Given the description of an element on the screen output the (x, y) to click on. 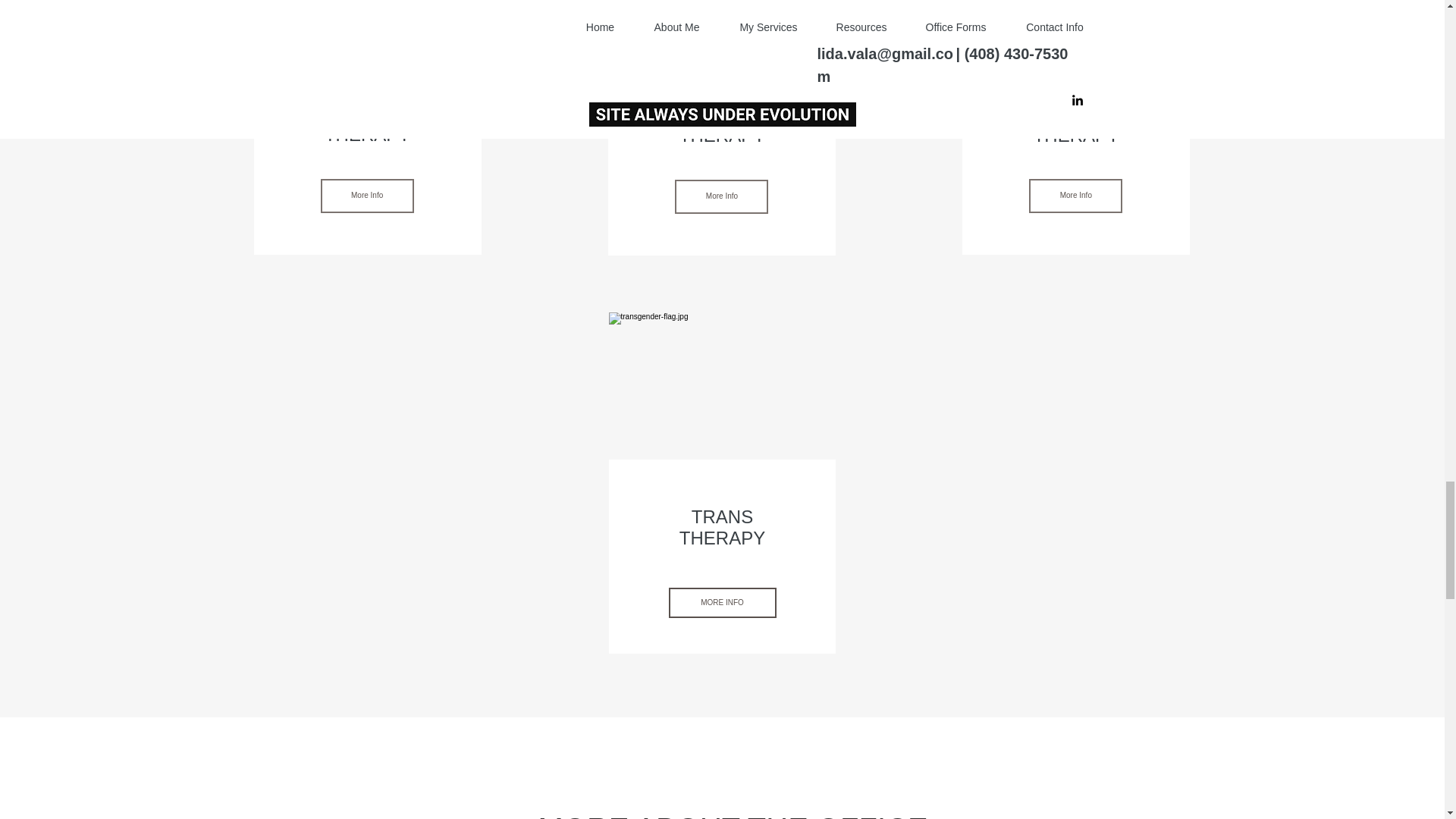
More Info (366, 195)
More Info (1075, 195)
MORE INFO (722, 603)
More Info (721, 196)
